Given the description of an element on the screen output the (x, y) to click on. 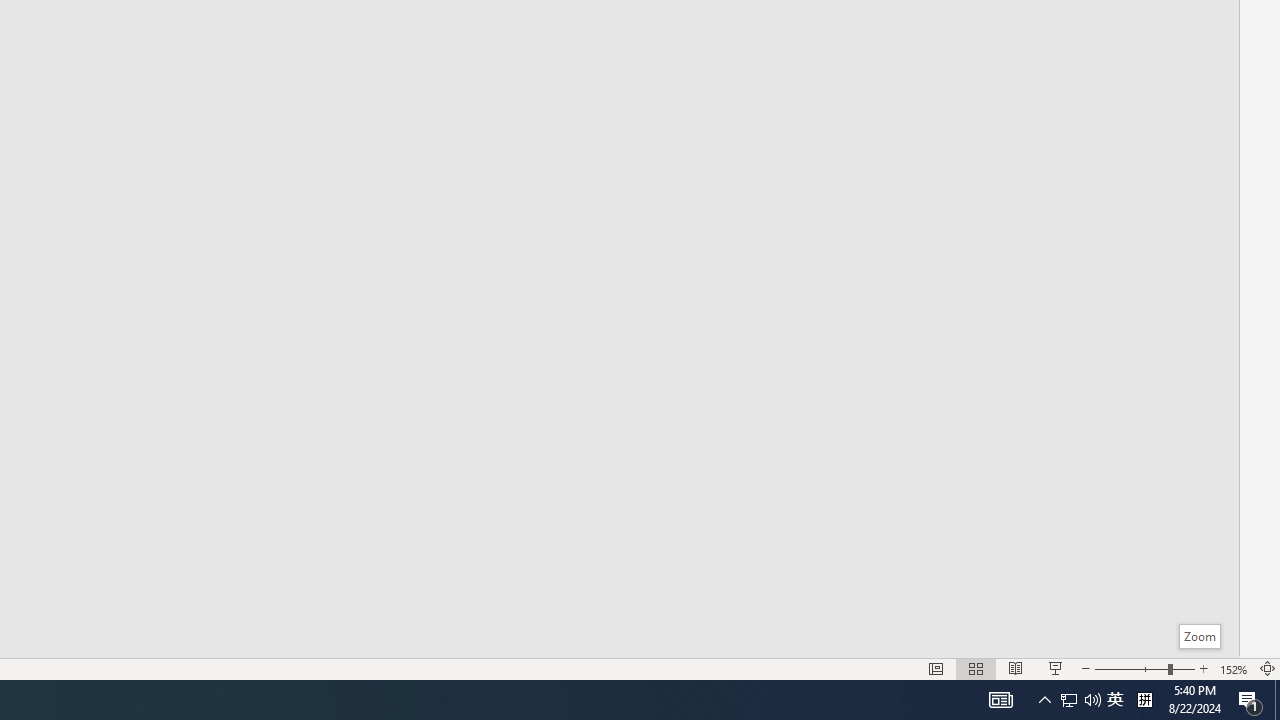
Zoom 152% (1234, 668)
